Given the description of an element on the screen output the (x, y) to click on. 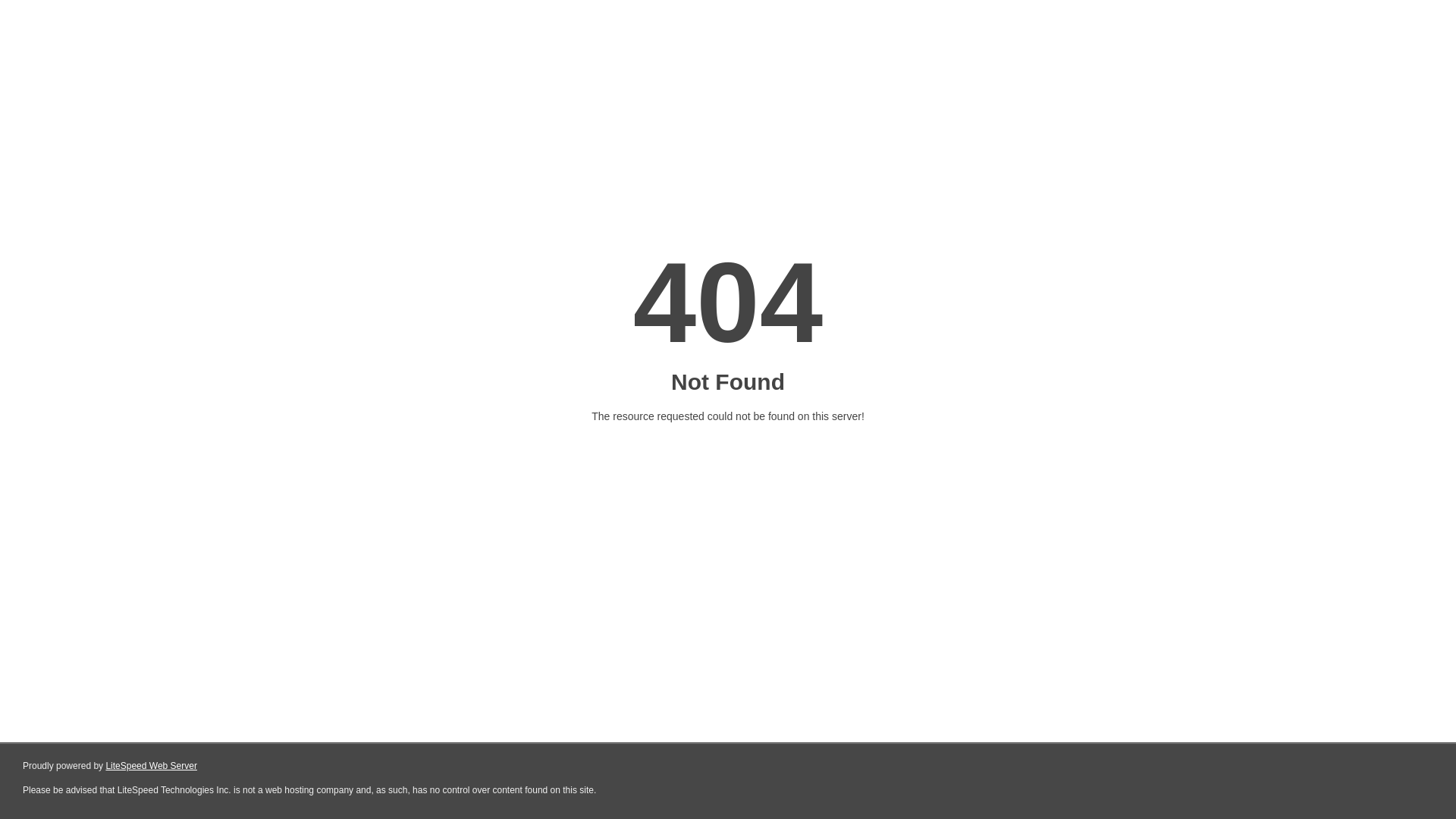
LiteSpeed Web Server Element type: text (151, 765)
